Given the description of an element on the screen output the (x, y) to click on. 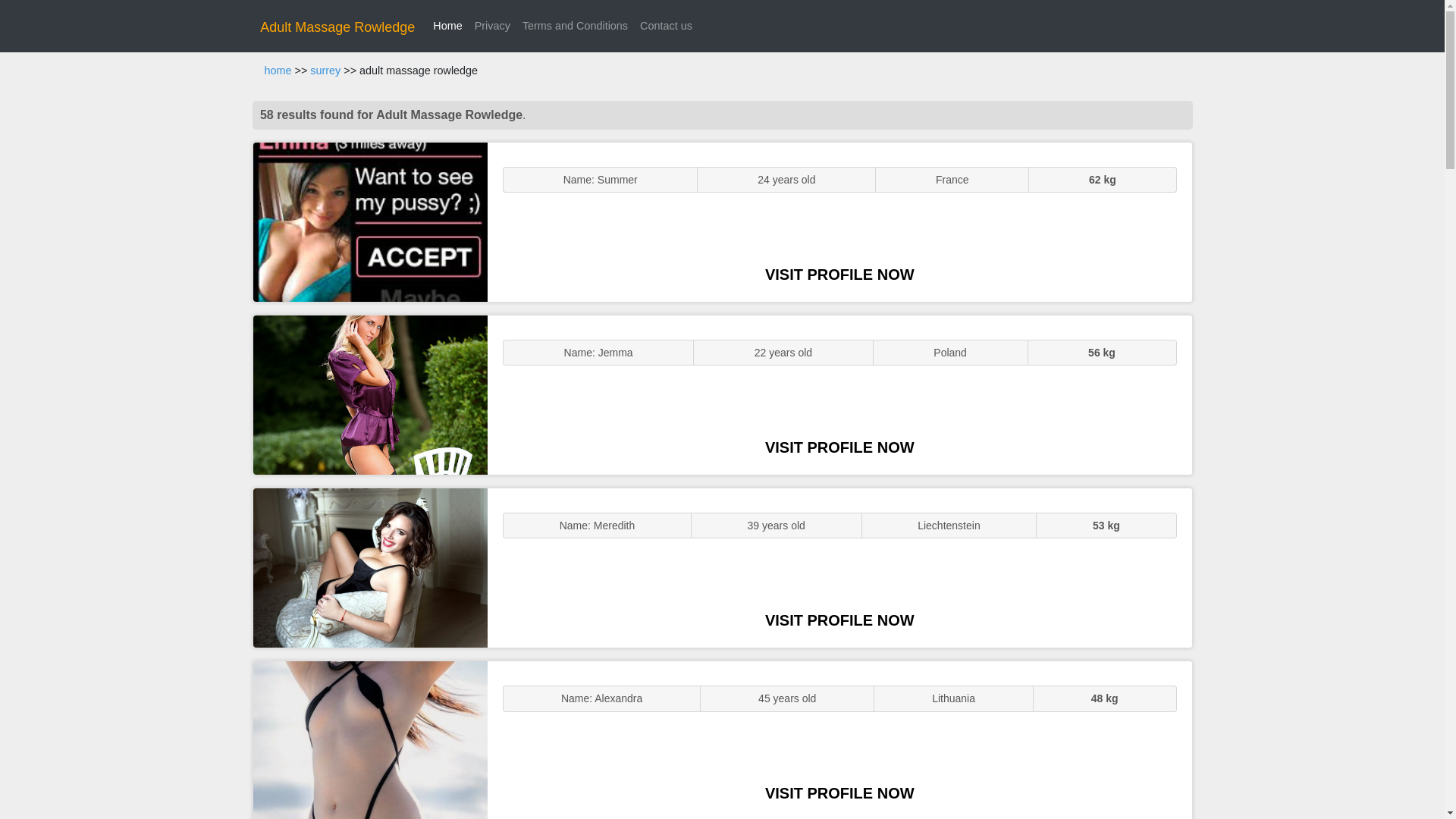
surrey (325, 70)
Sluts (370, 739)
VISIT PROFILE NOW (839, 274)
Sexy (370, 567)
Terms and Conditions (574, 25)
 ENGLISH STUNNER (370, 222)
Adult Massage Rowledge (337, 27)
VISIT PROFILE NOW (839, 792)
home (277, 70)
GFE (370, 395)
Privacy (492, 25)
VISIT PROFILE NOW (839, 446)
Contact us (665, 25)
VISIT PROFILE NOW (839, 619)
